Given the description of an element on the screen output the (x, y) to click on. 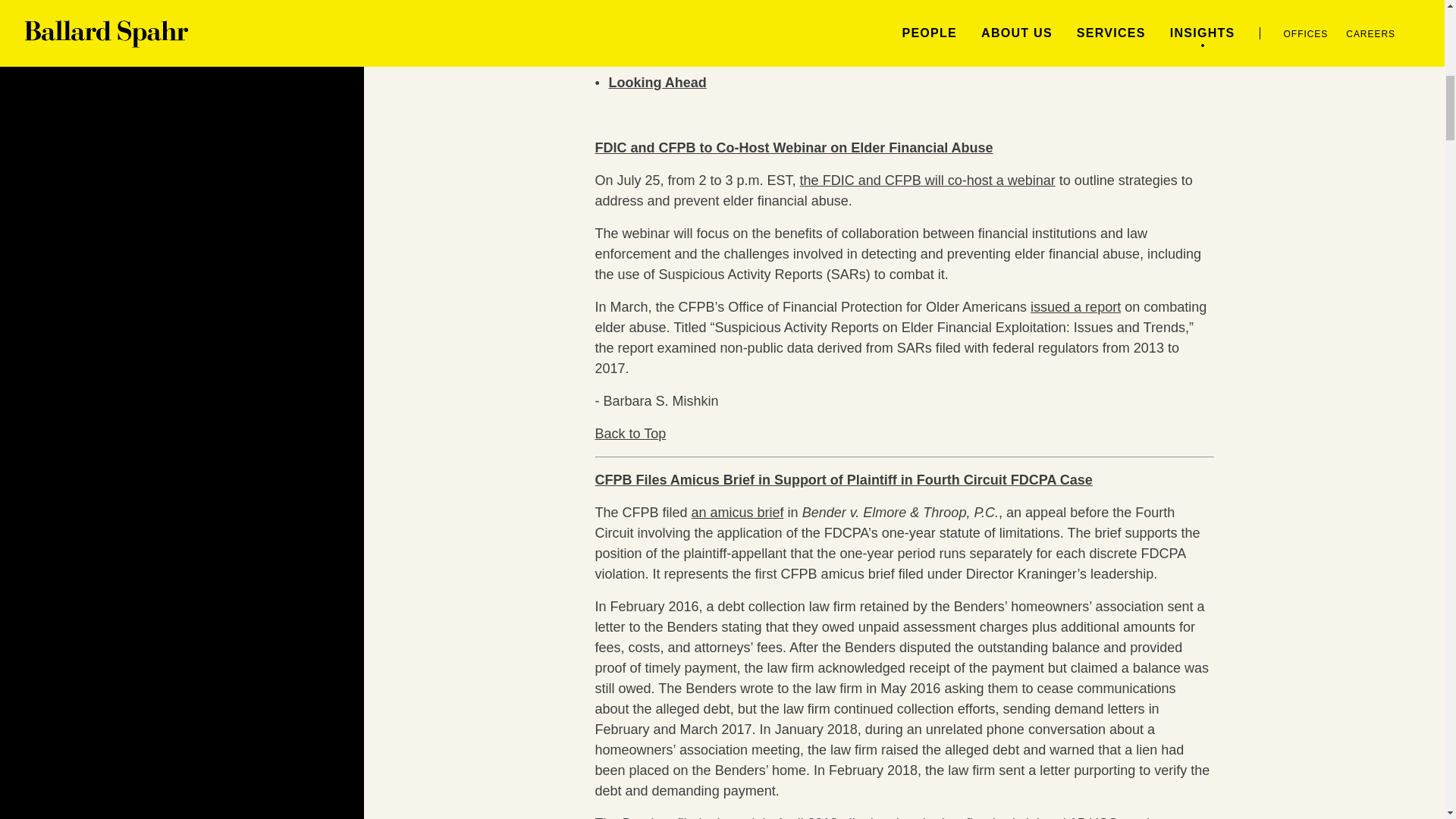
FDIC and CFPB to Co-Host Webinar on Elder Financial Abuse (793, 147)
issued a report (1075, 306)
the FDIC and CFPB will co-host a webinar (927, 180)
Looking Ahead (657, 82)
Did You Know? (657, 49)
Back to Top (629, 433)
an amicus brief (737, 512)
